Given the description of an element on the screen output the (x, y) to click on. 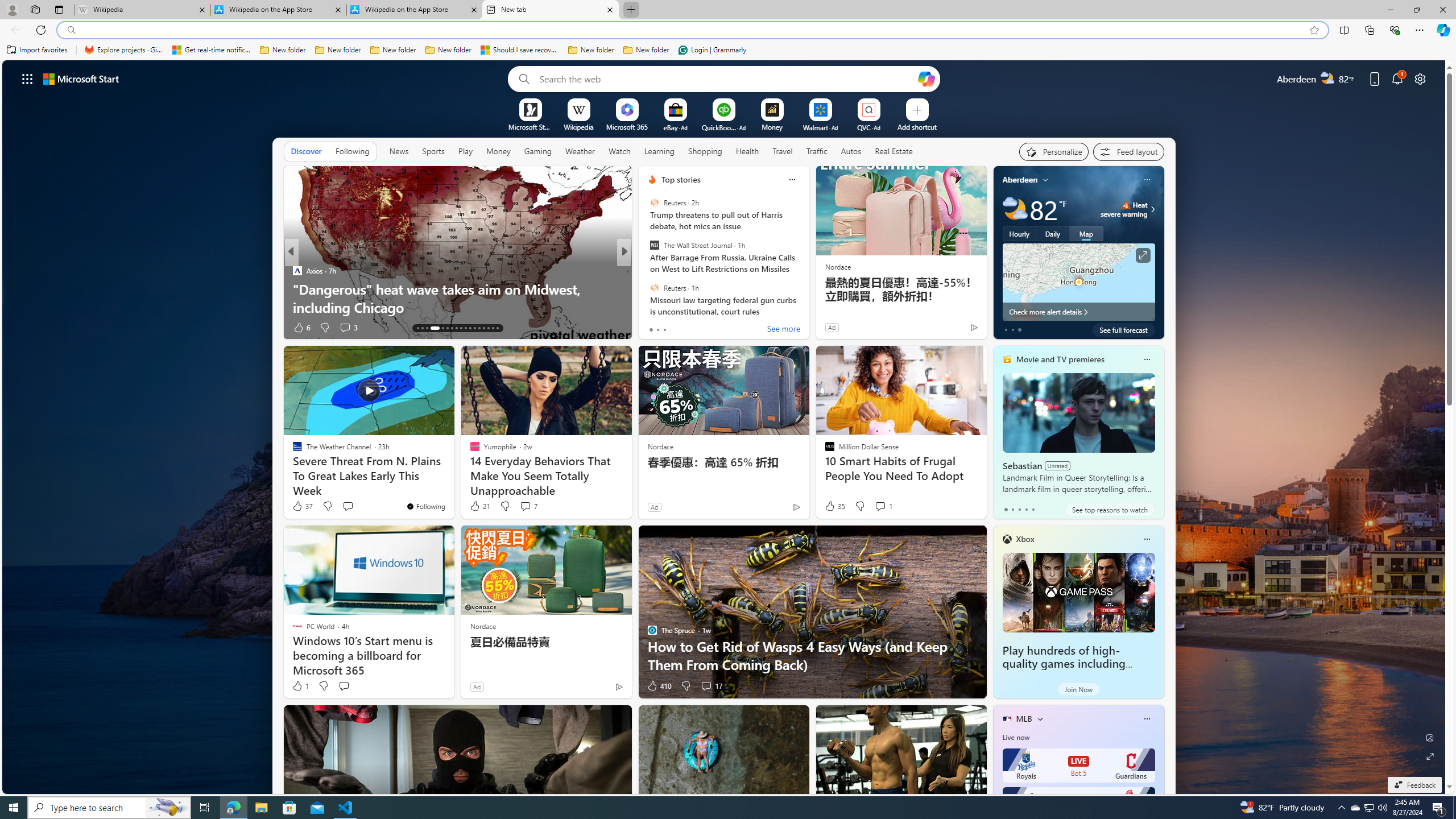
135 Like (654, 327)
Import favorites (36, 49)
21 Like (479, 505)
Daily (1052, 233)
The Wall Street Journal (654, 245)
72 Like (652, 327)
Microsoft start (81, 78)
